Given the description of an element on the screen output the (x, y) to click on. 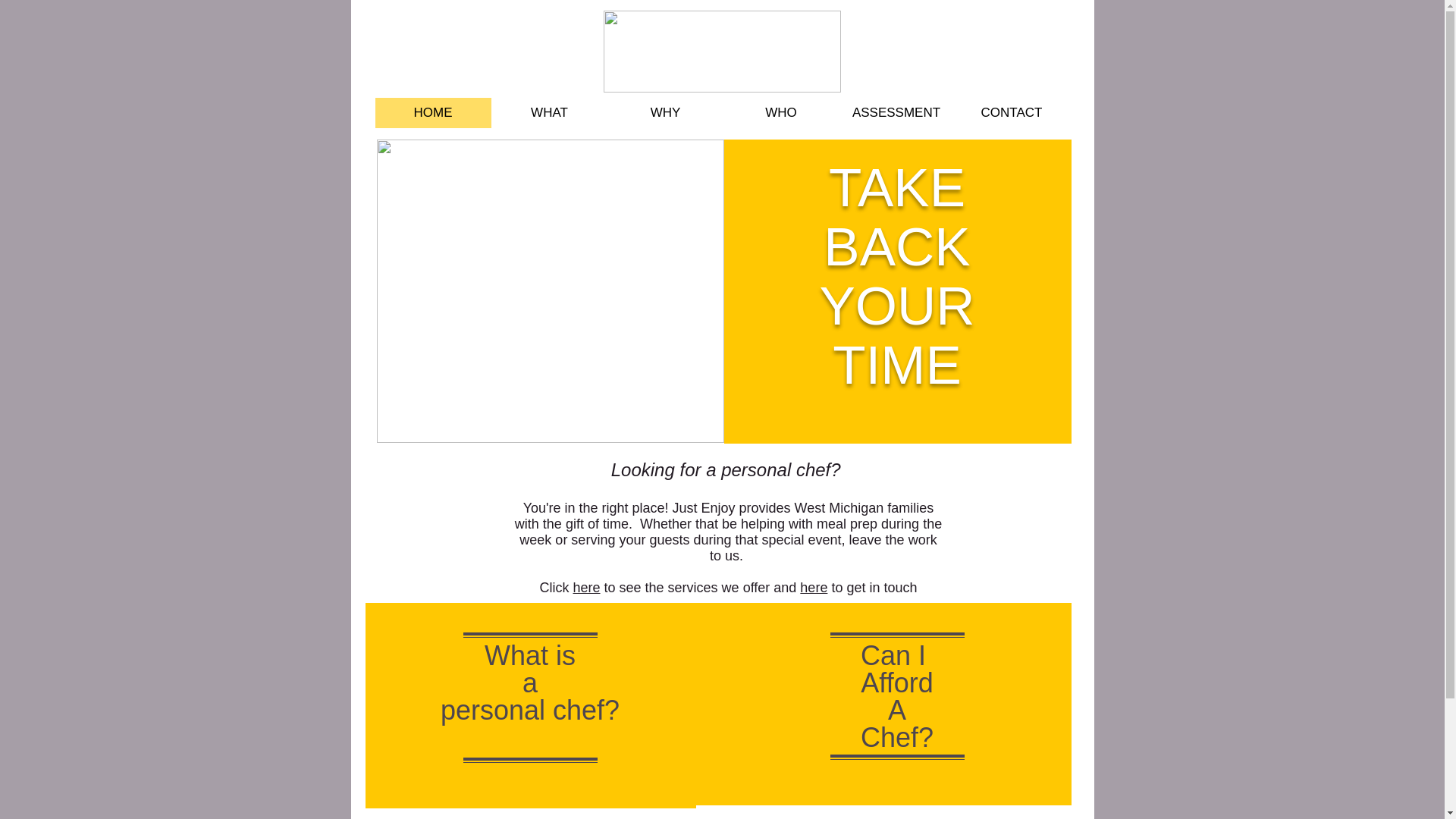
here (813, 587)
here (586, 587)
WHO (780, 112)
CONTACT (1010, 112)
WHY (664, 112)
HOME (432, 112)
WHAT (549, 112)
ASSESSMENT (895, 112)
